Given the description of an element on the screen output the (x, y) to click on. 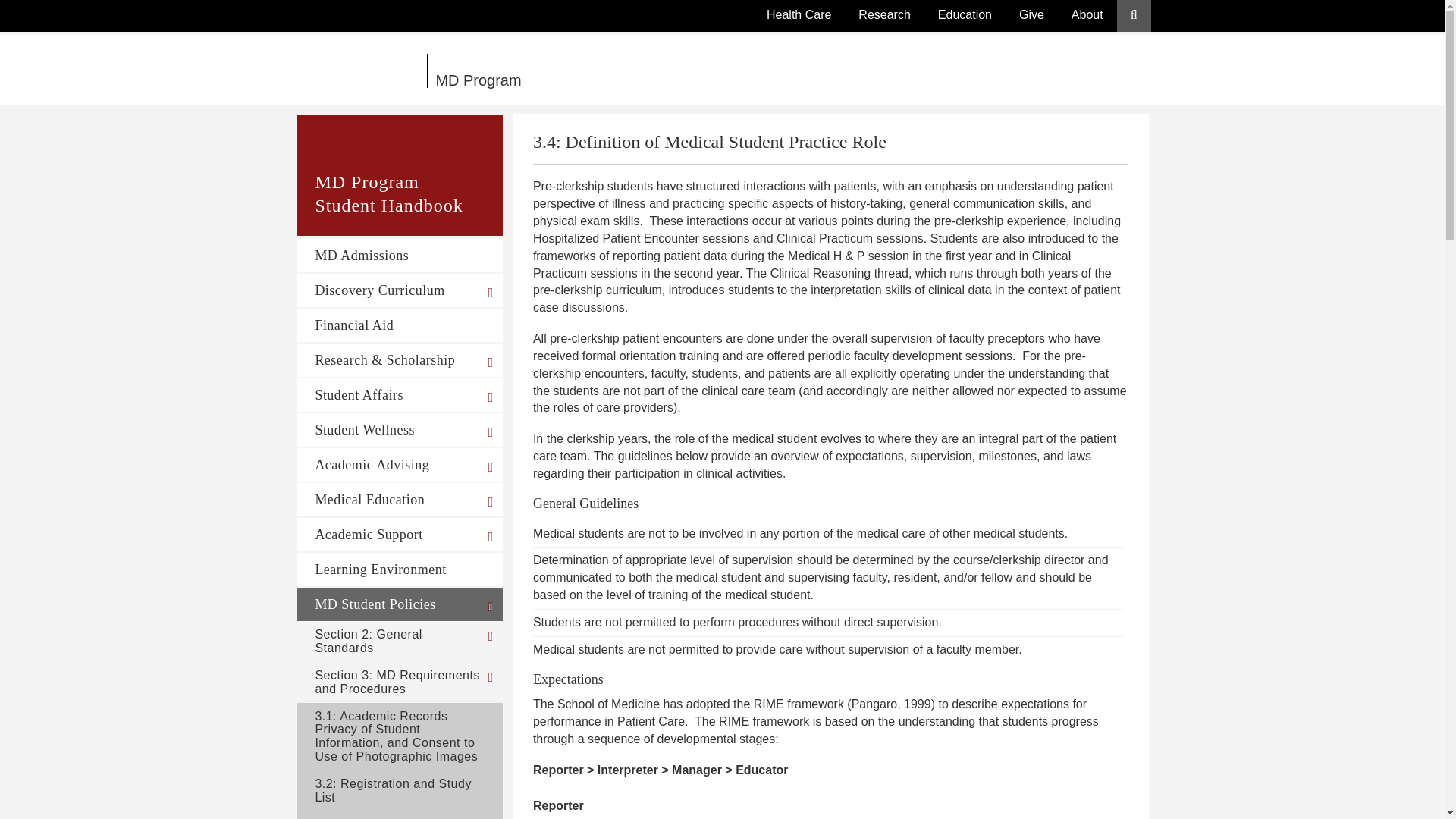
Stanford Medicine (361, 70)
MD Program (616, 71)
